Given the description of an element on the screen output the (x, y) to click on. 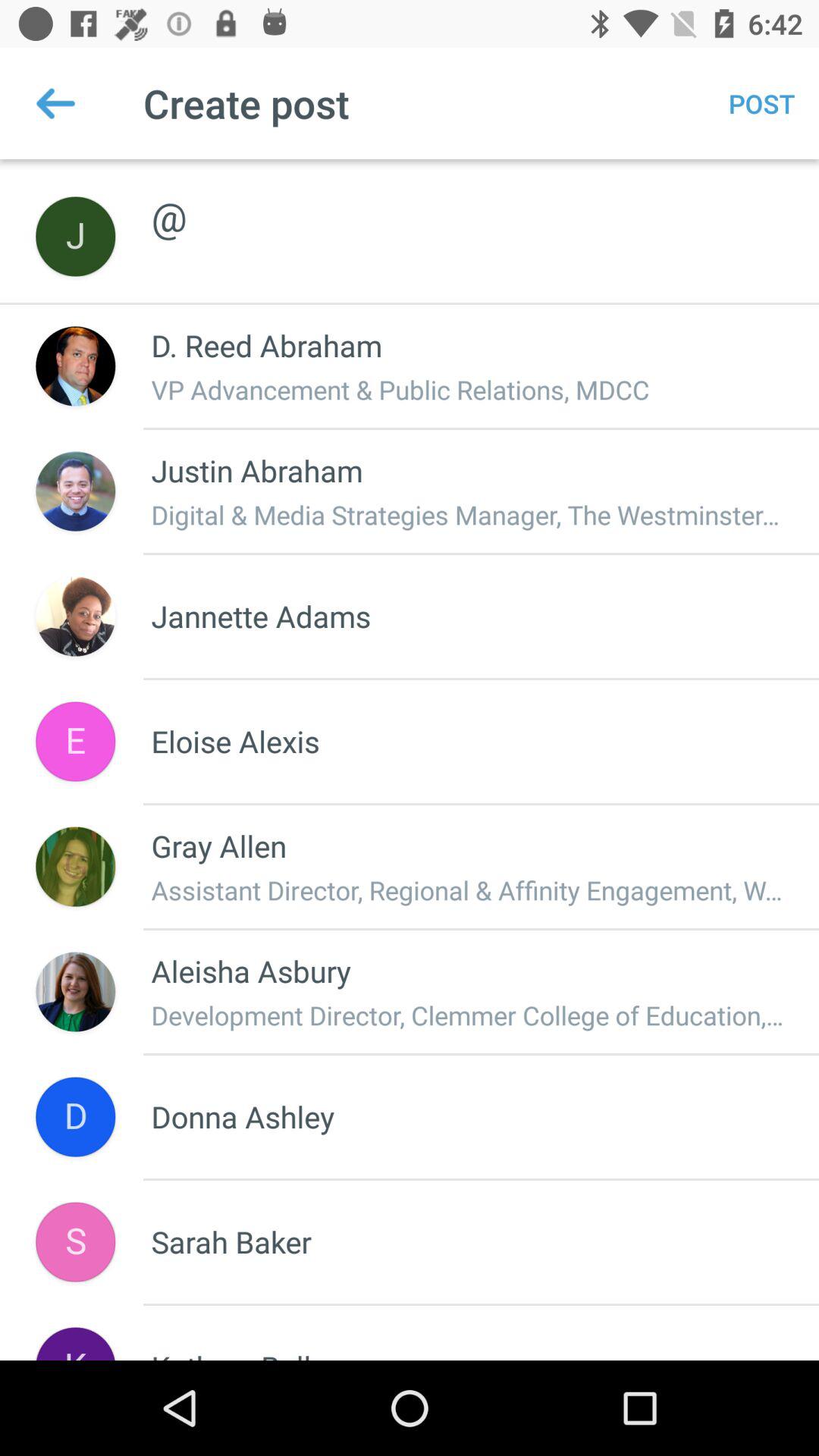
click the icon below the post item (469, 200)
